Given the description of an element on the screen output the (x, y) to click on. 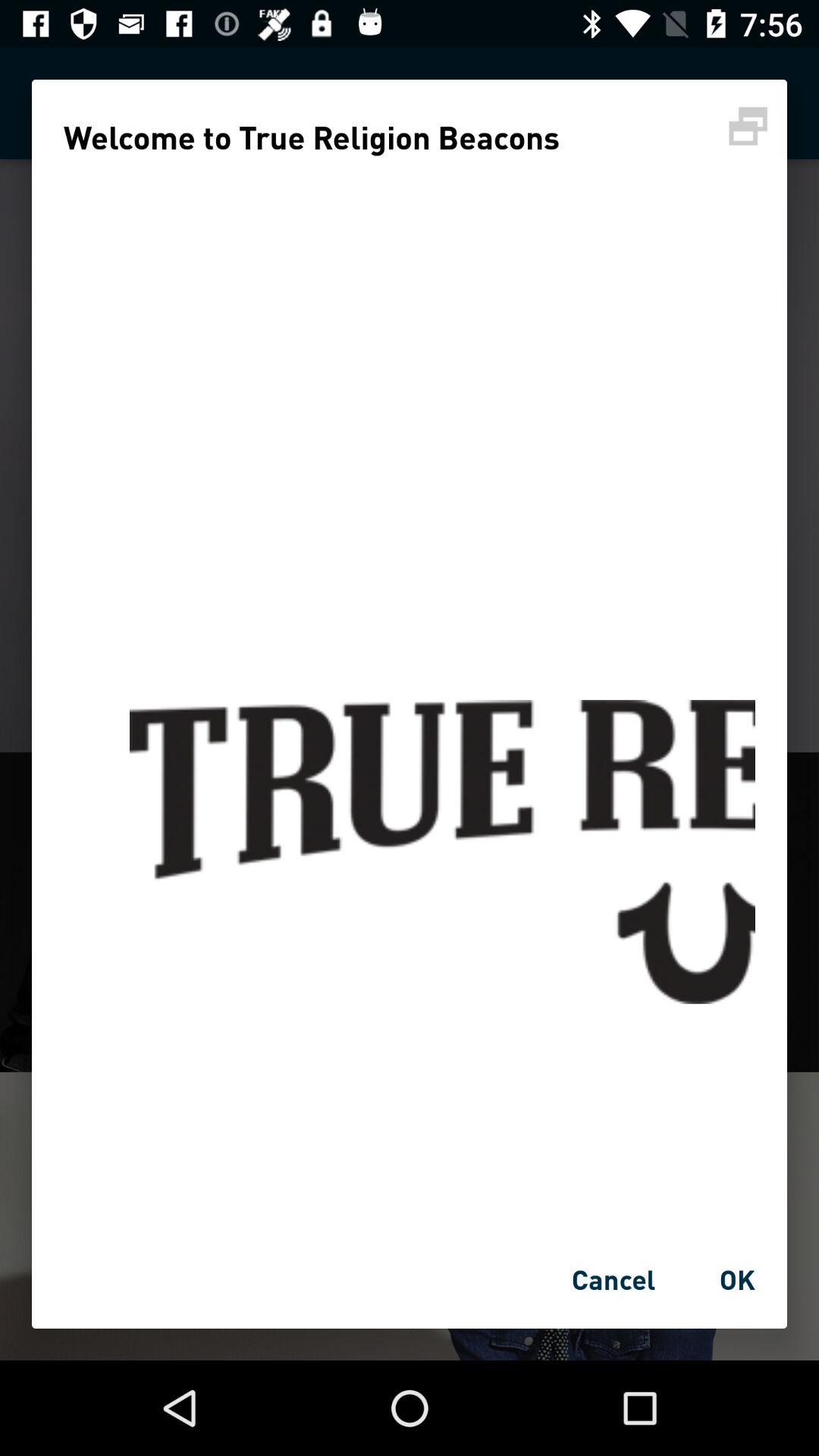
toggle screen (747, 126)
